Given the description of an element on the screen output the (x, y) to click on. 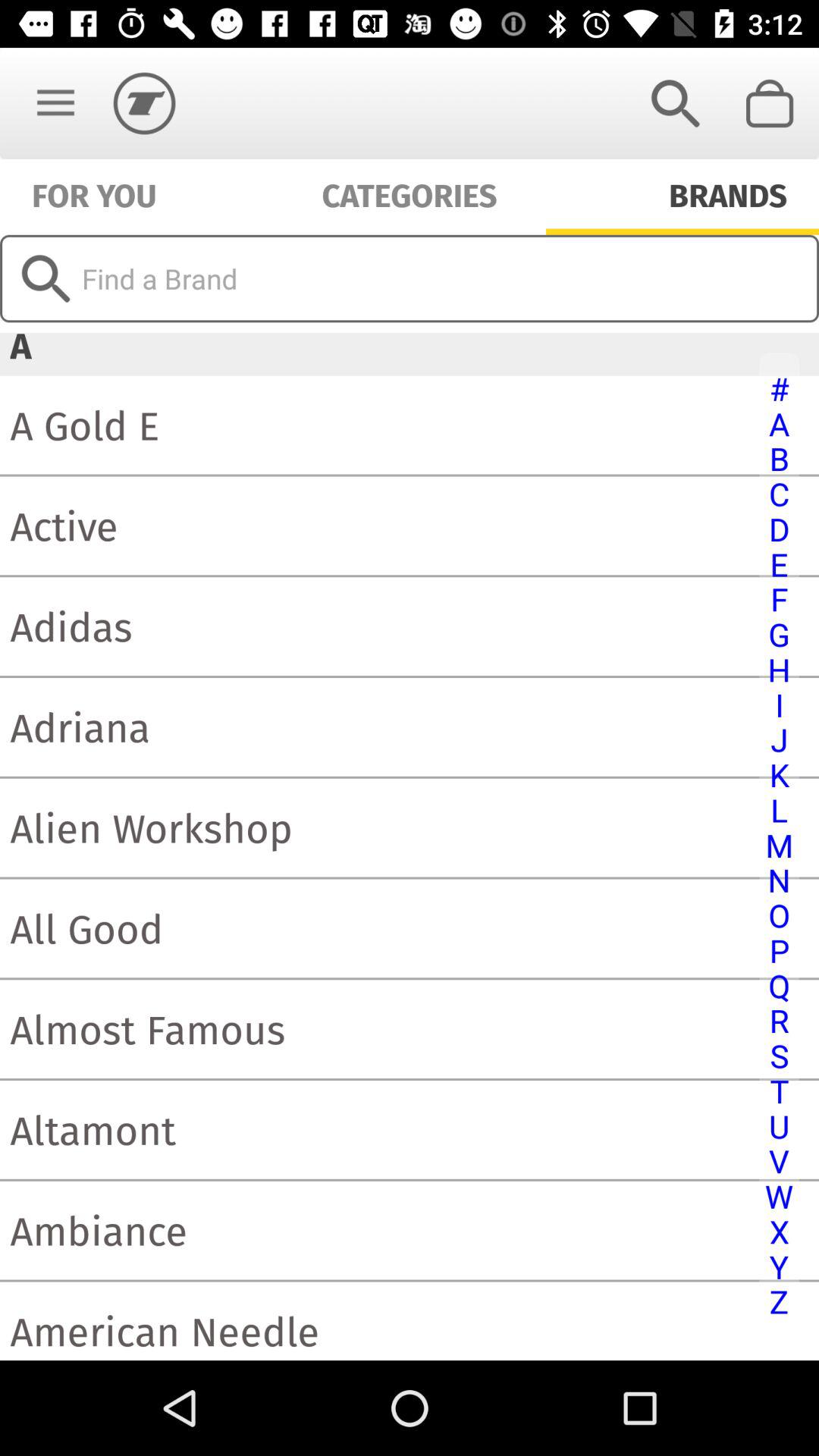
search for brand (409, 278)
